Given the description of an element on the screen output the (x, y) to click on. 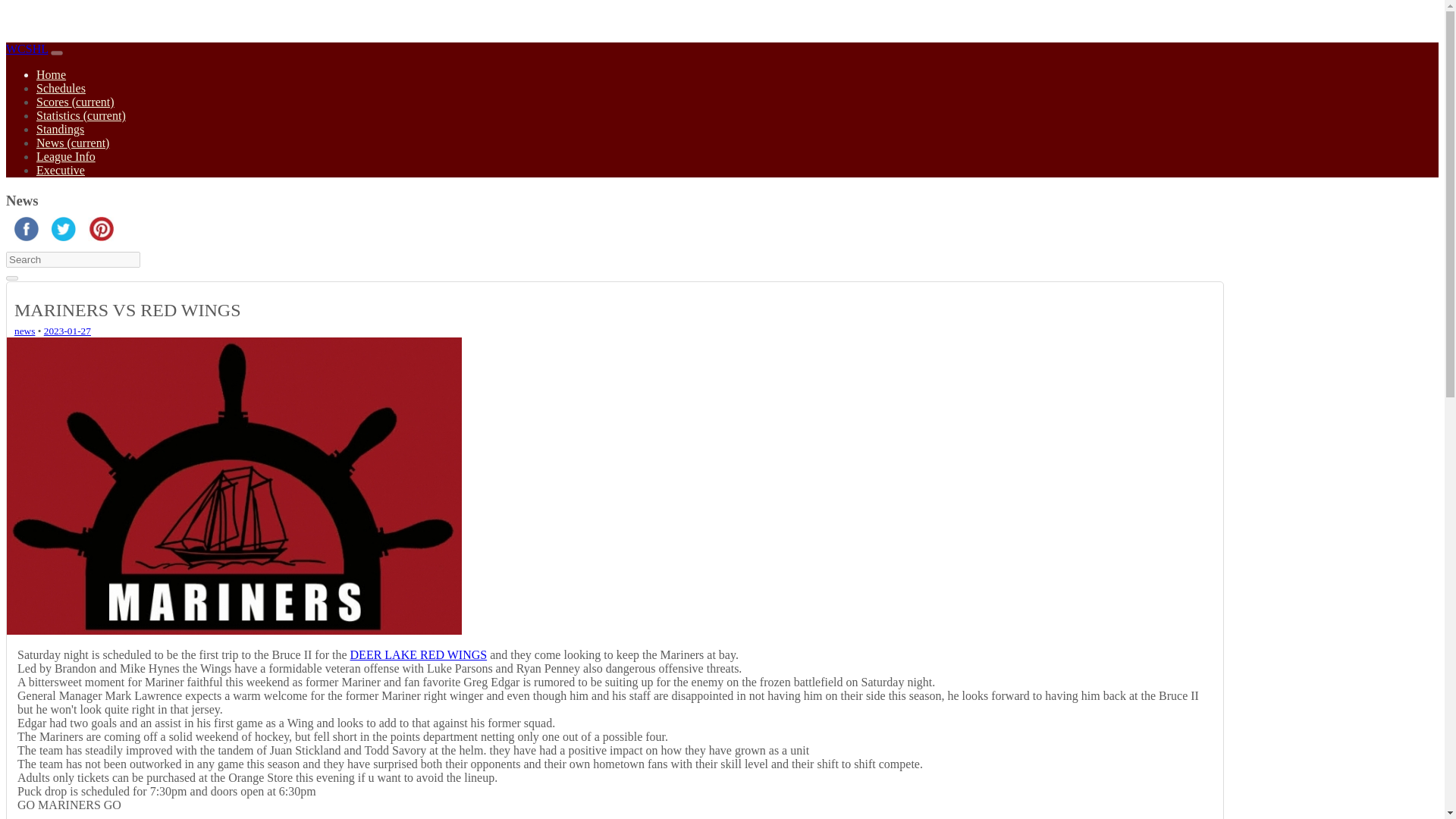
Standings (60, 128)
WCSHL (26, 48)
Executive (60, 169)
Statistics (80, 115)
Share with Twitter (63, 236)
DEER LAKE RED WINGS (418, 654)
Home (50, 74)
News (24, 330)
news (24, 330)
Home (50, 74)
Schedules (60, 88)
Standings (60, 128)
League Info (66, 155)
Home (26, 48)
Schedules (60, 88)
